Given the description of an element on the screen output the (x, y) to click on. 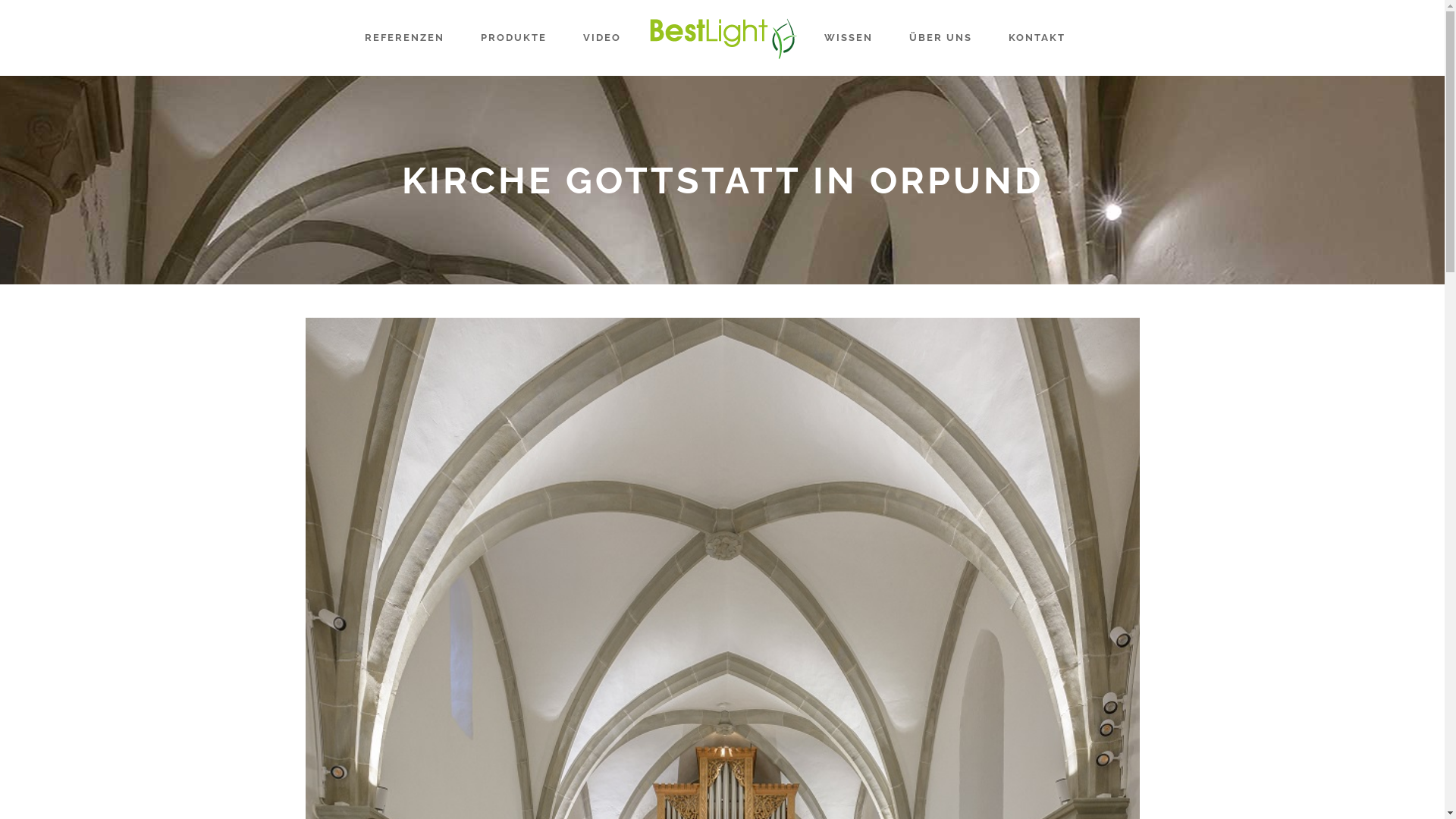
WISSEN Element type: text (847, 37)
REFERENZEN Element type: text (403, 37)
KONTAKT Element type: text (1036, 37)
PRODUKTE Element type: text (513, 37)
VIDEO Element type: text (601, 37)
